Given the description of an element on the screen output the (x, y) to click on. 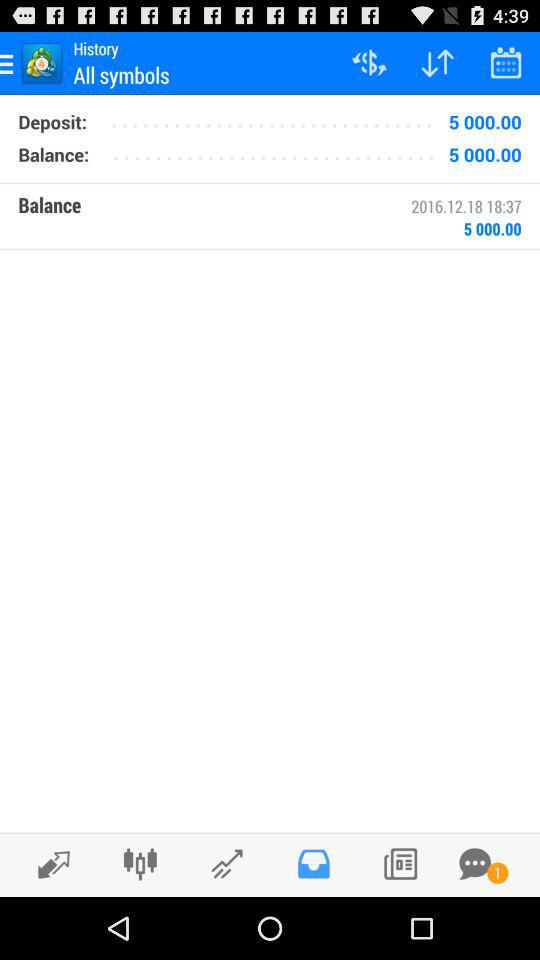
listing (400, 863)
